Given the description of an element on the screen output the (x, y) to click on. 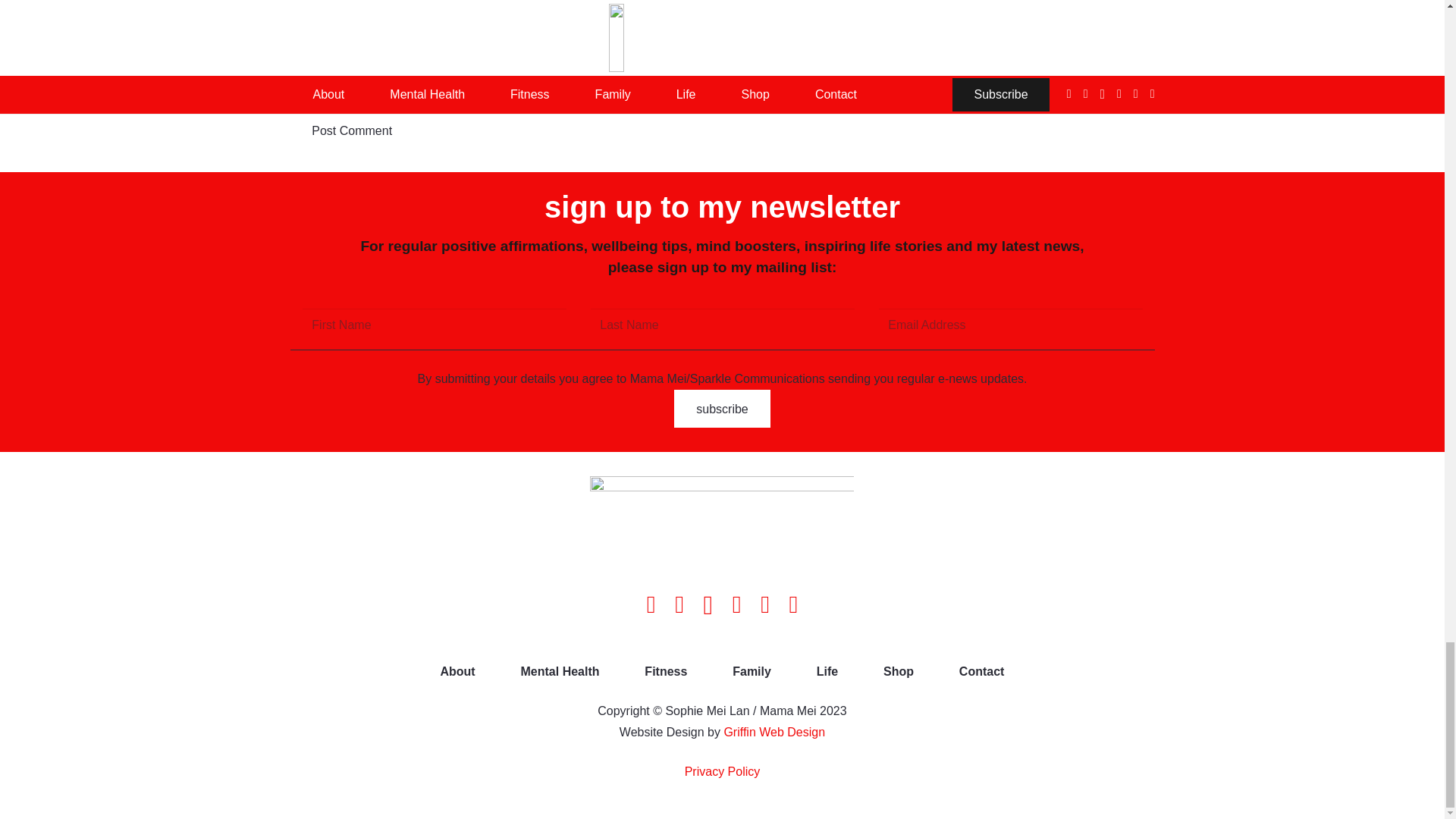
subscribe (722, 408)
1 (296, 71)
Post Comment (351, 130)
